Given the description of an element on the screen output the (x, y) to click on. 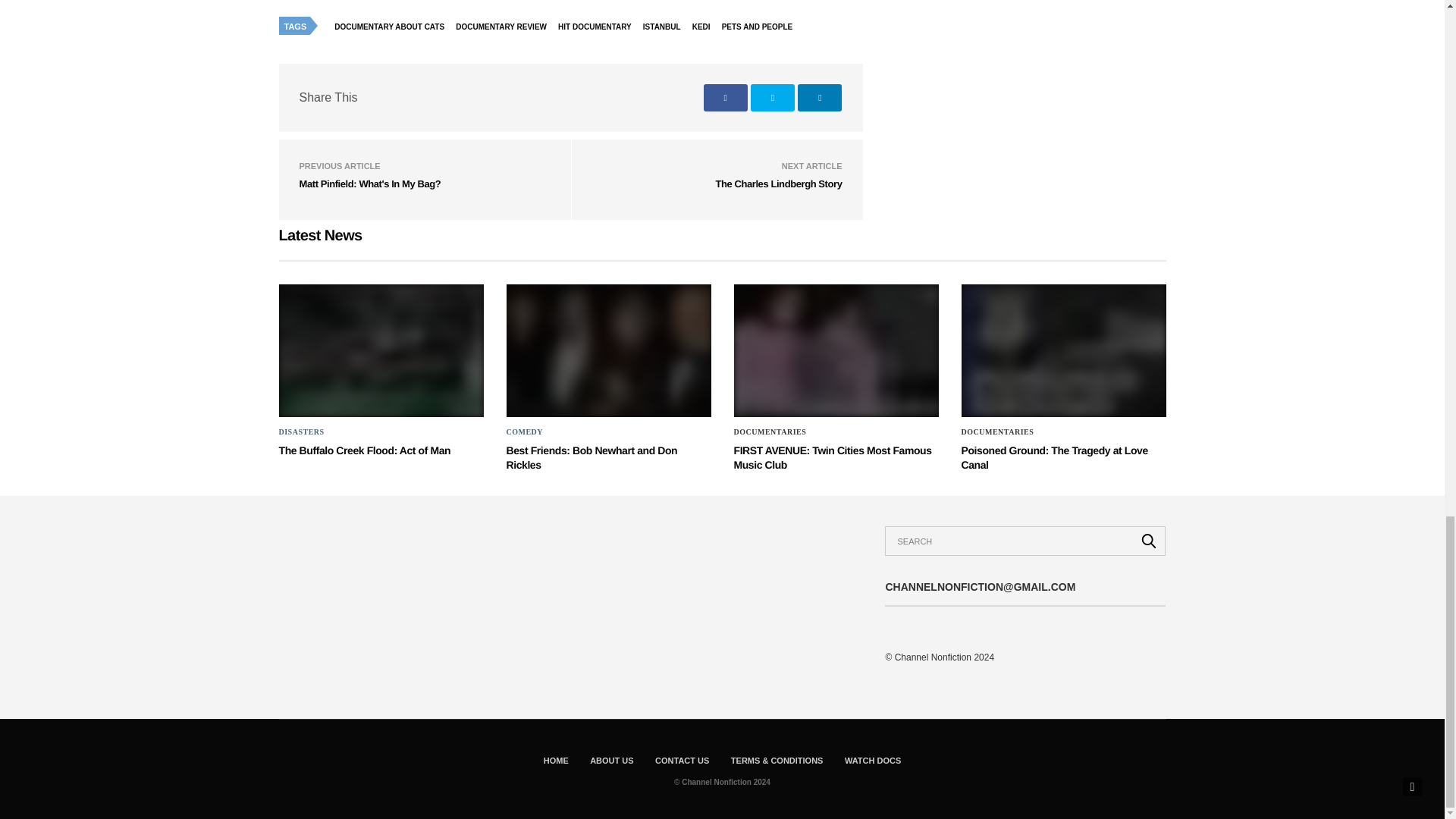
The Charles Lindbergh Story (777, 183)
DISASTERS (301, 431)
The Buffalo Creek Flood: Act of Man (365, 450)
The Buffalo Creek Flood: Act of Man (365, 450)
Comedy (524, 431)
Matt Pinfield: What's In My Bag? (369, 183)
COMEDY (524, 431)
KEDI (705, 26)
The Charles Lindbergh Story (777, 183)
Best Friends: Bob Newhart and Don Rickles (608, 350)
